Given the description of an element on the screen output the (x, y) to click on. 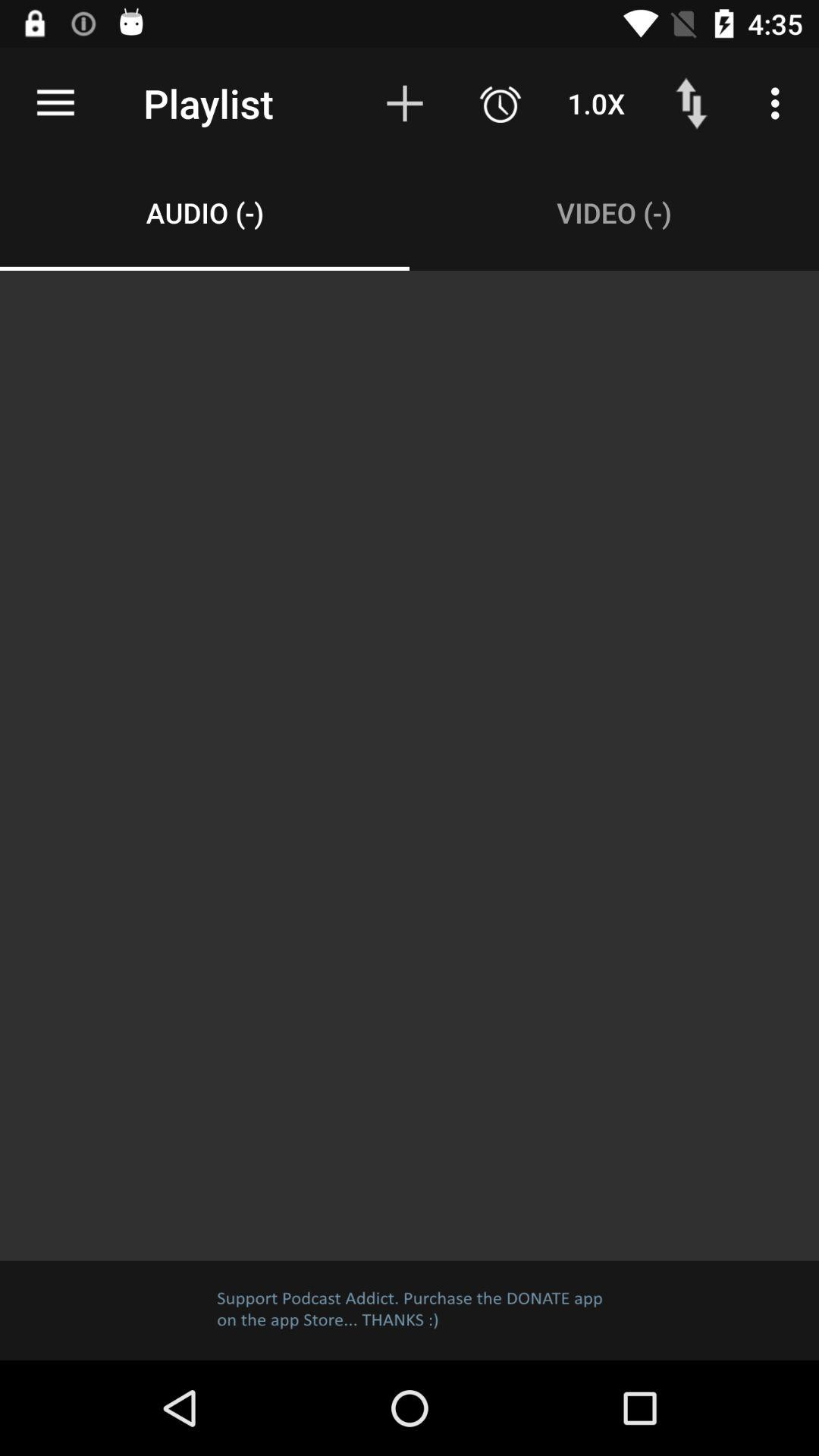
press 1.0x (595, 103)
